Given the description of an element on the screen output the (x, y) to click on. 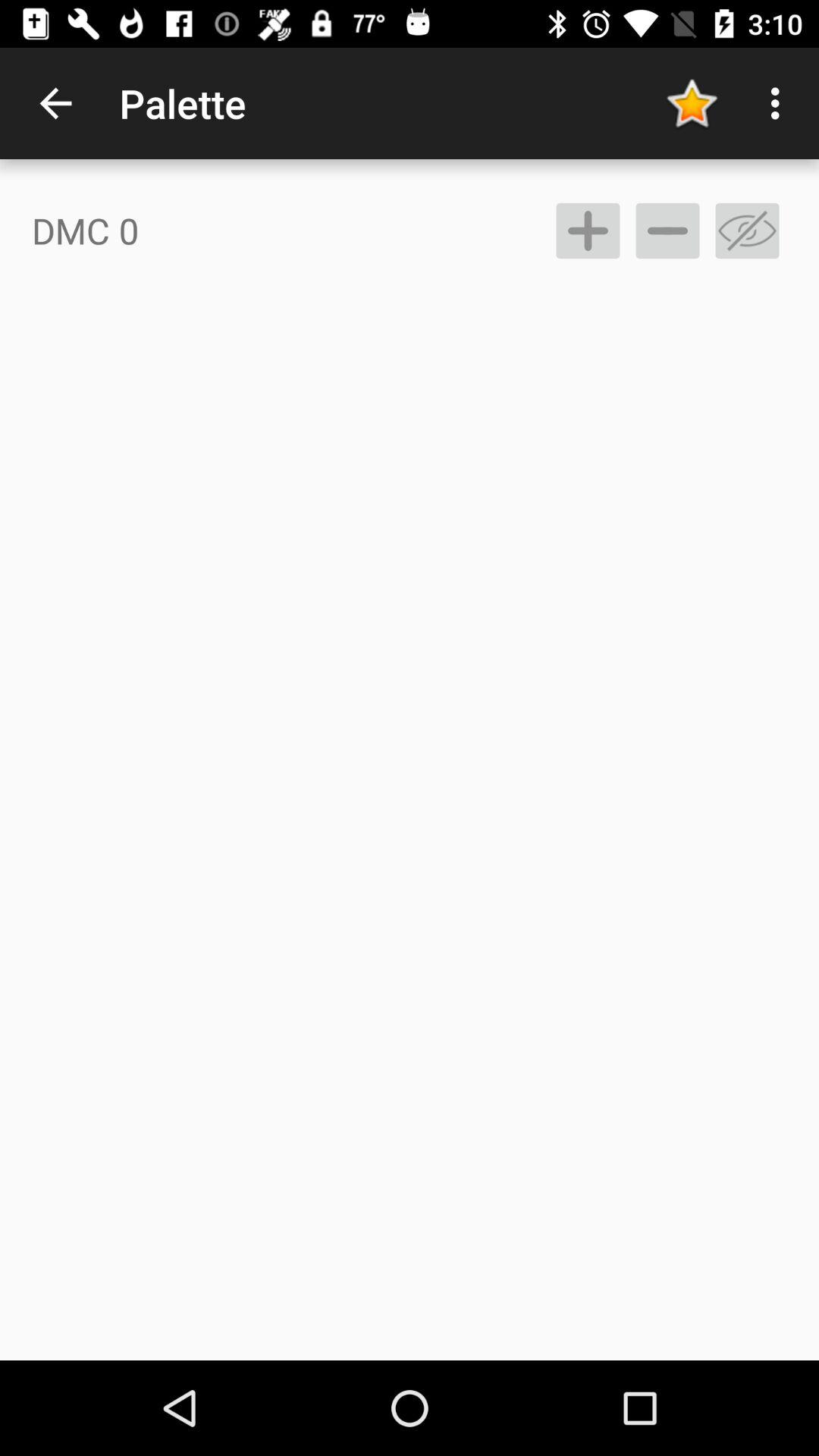
zoom out (667, 230)
